Given the description of an element on the screen output the (x, y) to click on. 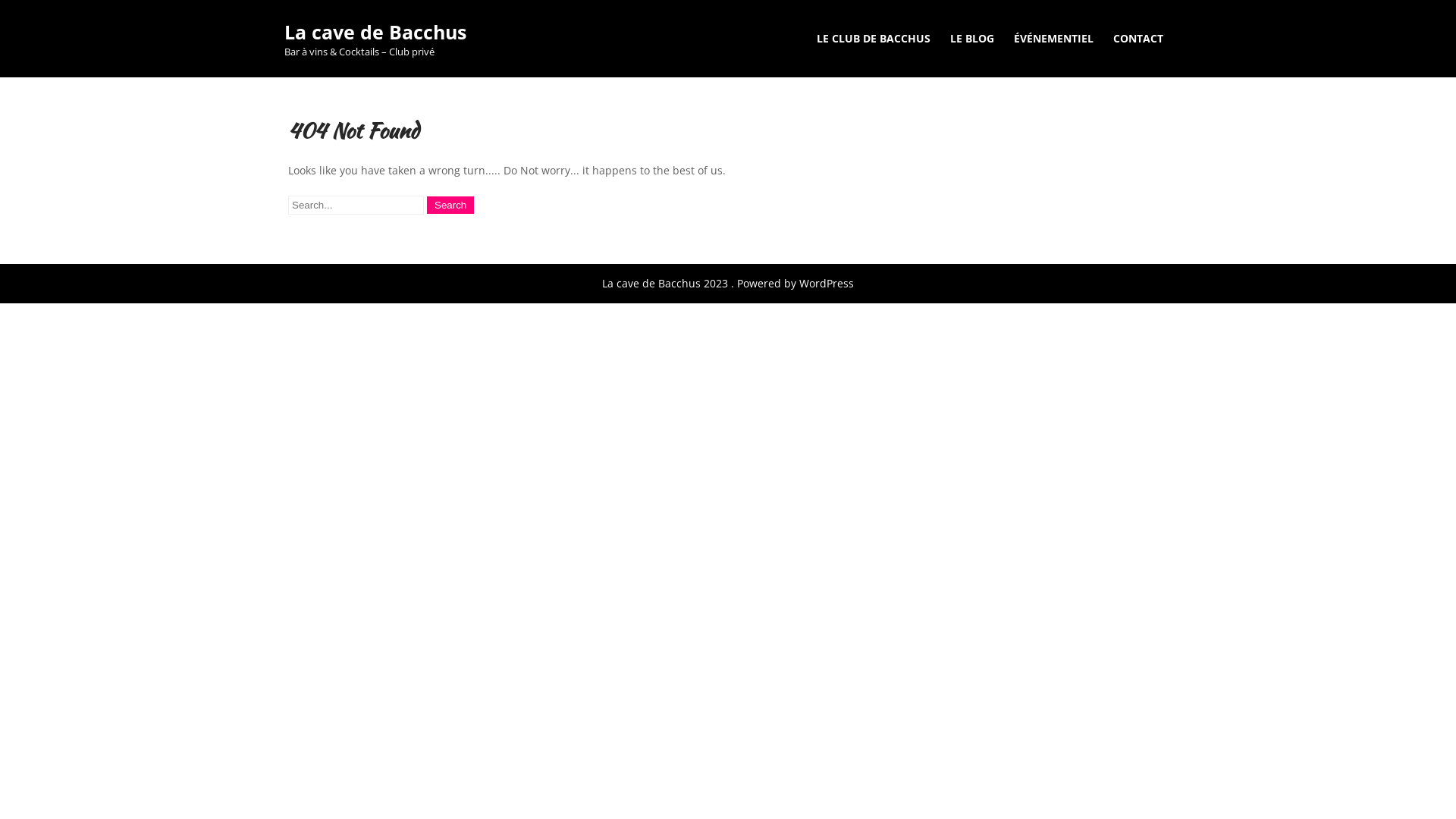
LE BLOG Element type: text (971, 38)
La cave de Bacchus 2023 . Powered by WordPress Element type: text (727, 283)
Search Element type: text (449, 204)
LE CLUB DE BACCHUS Element type: text (873, 38)
La cave de Bacchus Element type: text (375, 31)
CONTACT Element type: text (1137, 38)
